Given the description of an element on the screen output the (x, y) to click on. 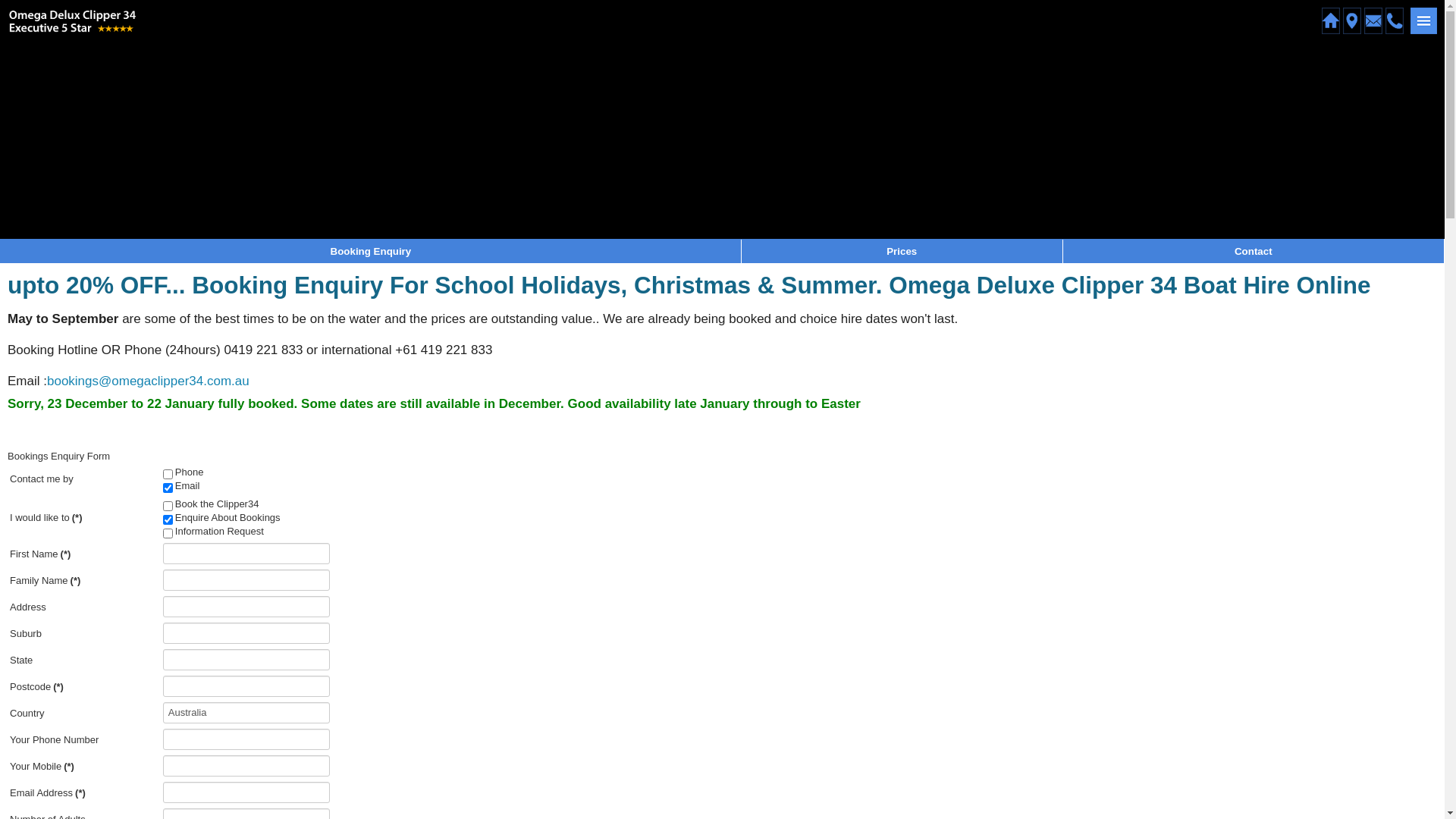
Booking Enquiry Element type: text (370, 251)
Contact Element type: text (1253, 251)
Prices Element type: text (901, 251)
bookings@omegaclipper34.com.au Element type: text (148, 380)
